Given the description of an element on the screen output the (x, y) to click on. 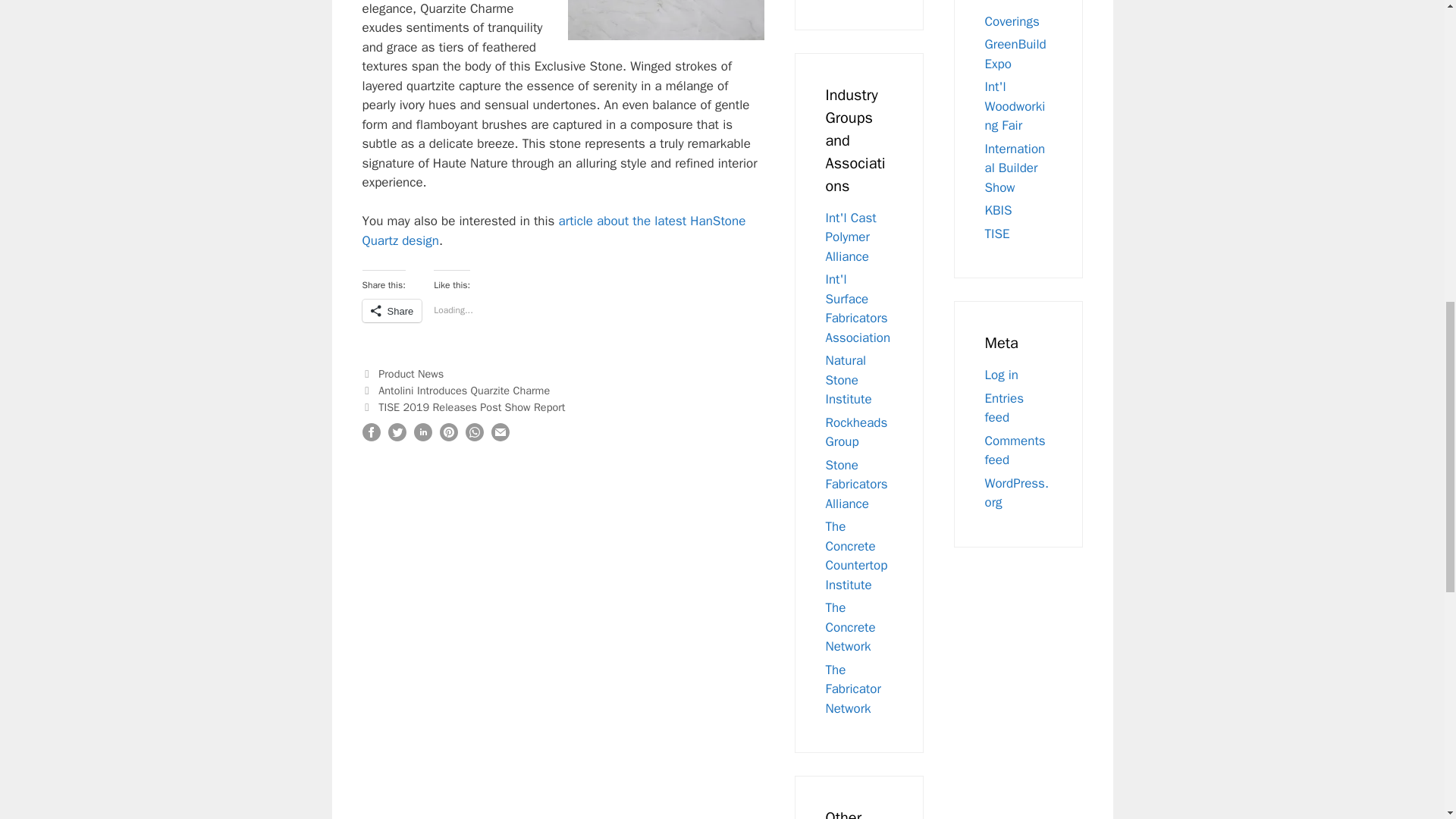
article about the latest HanStone Quartz design (553, 230)
Share this post! (474, 437)
Share this post! (422, 437)
Share (392, 310)
Pin this post! (448, 437)
Antolini Introduces Quarzite Charme (464, 390)
Share this post! (371, 437)
Tweet this post! (397, 437)
TISE 2019 Releases Post Show Report (471, 407)
Product News (411, 373)
